Given the description of an element on the screen output the (x, y) to click on. 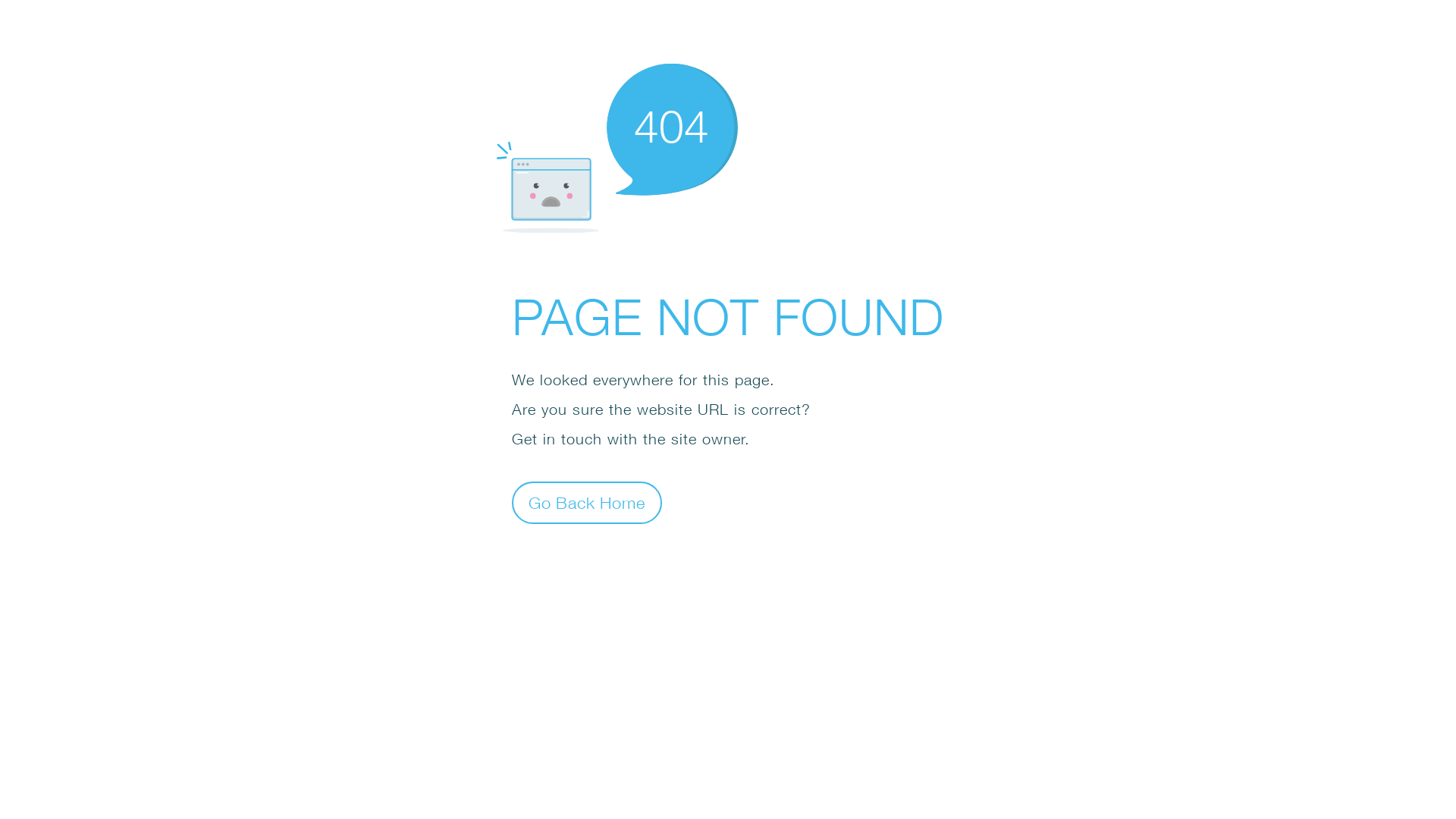
Go Back Home Element type: text (586, 502)
